Given the description of an element on the screen output the (x, y) to click on. 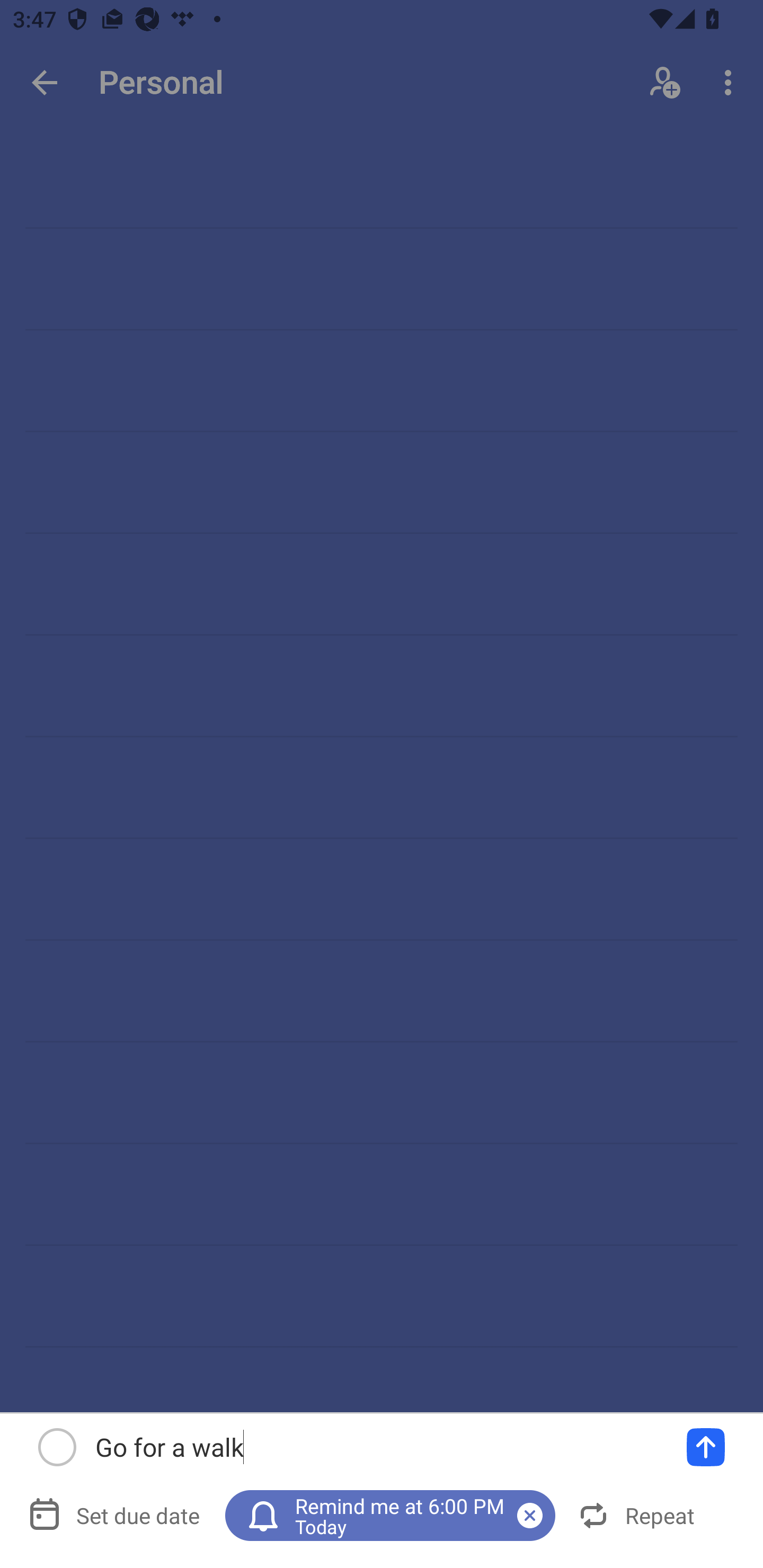
Add a task (705, 1446)
